Given the description of an element on the screen output the (x, y) to click on. 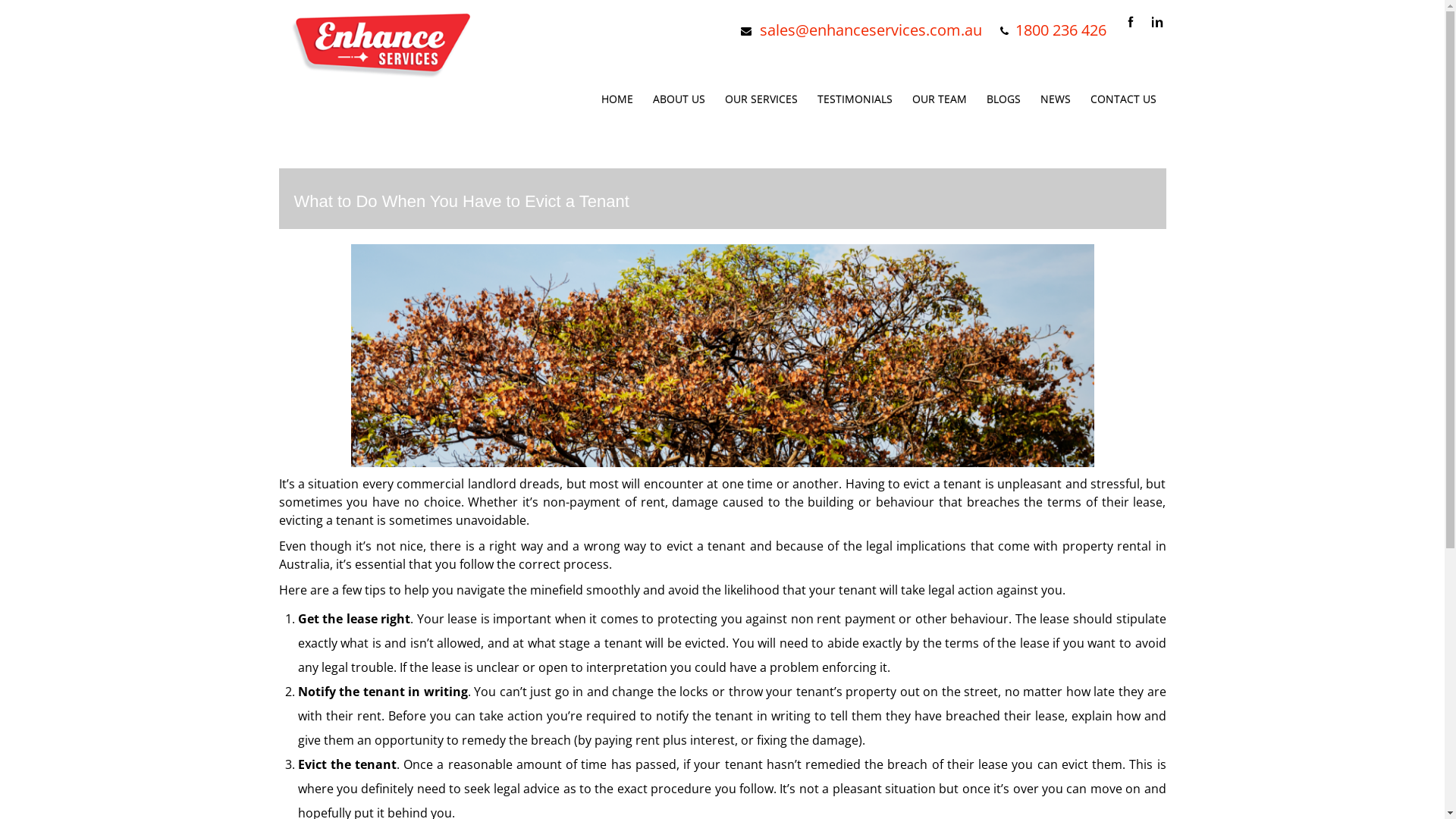
OUR TEAM Element type: text (939, 98)
BLOGS Element type: text (1003, 98)
NEWS Element type: text (1054, 98)
OUR SERVICES Element type: text (760, 98)
HOME Element type: text (617, 98)
1800 236 426 Element type: text (1059, 29)
ABOUT US Element type: text (679, 98)
What to Do When You Have to Evict a Tenant Element type: text (461, 200)
sales@enhanceservices.com.au Element type: text (870, 29)
CONTACT US Element type: text (1122, 98)
TESTIMONIALS Element type: text (853, 98)
